Given the description of an element on the screen output the (x, y) to click on. 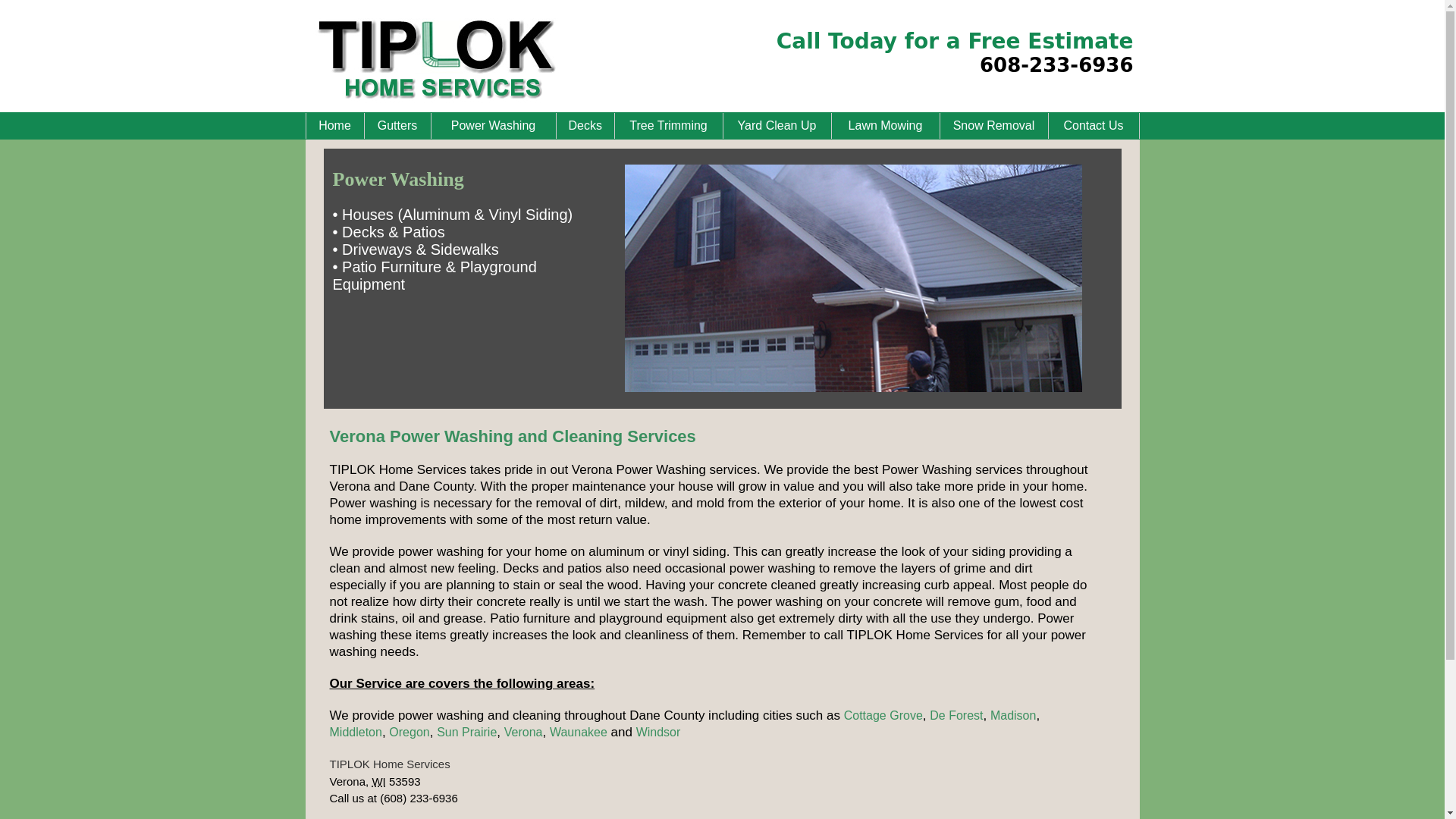
Madison (1012, 715)
Wisconsin (378, 780)
Gutters (397, 125)
Oregon (408, 731)
Windsor (658, 731)
Lawn Mowing (885, 125)
Contact Us (1094, 125)
TIPLOK Home Services (389, 763)
Snow Removal (992, 125)
Middleton (355, 731)
Verona (523, 731)
Sun Prairie (466, 731)
Home (333, 125)
Deck Construction Services Verona Wisconsin (389, 763)
Yard Clean Up (775, 125)
